Given the description of an element on the screen output the (x, y) to click on. 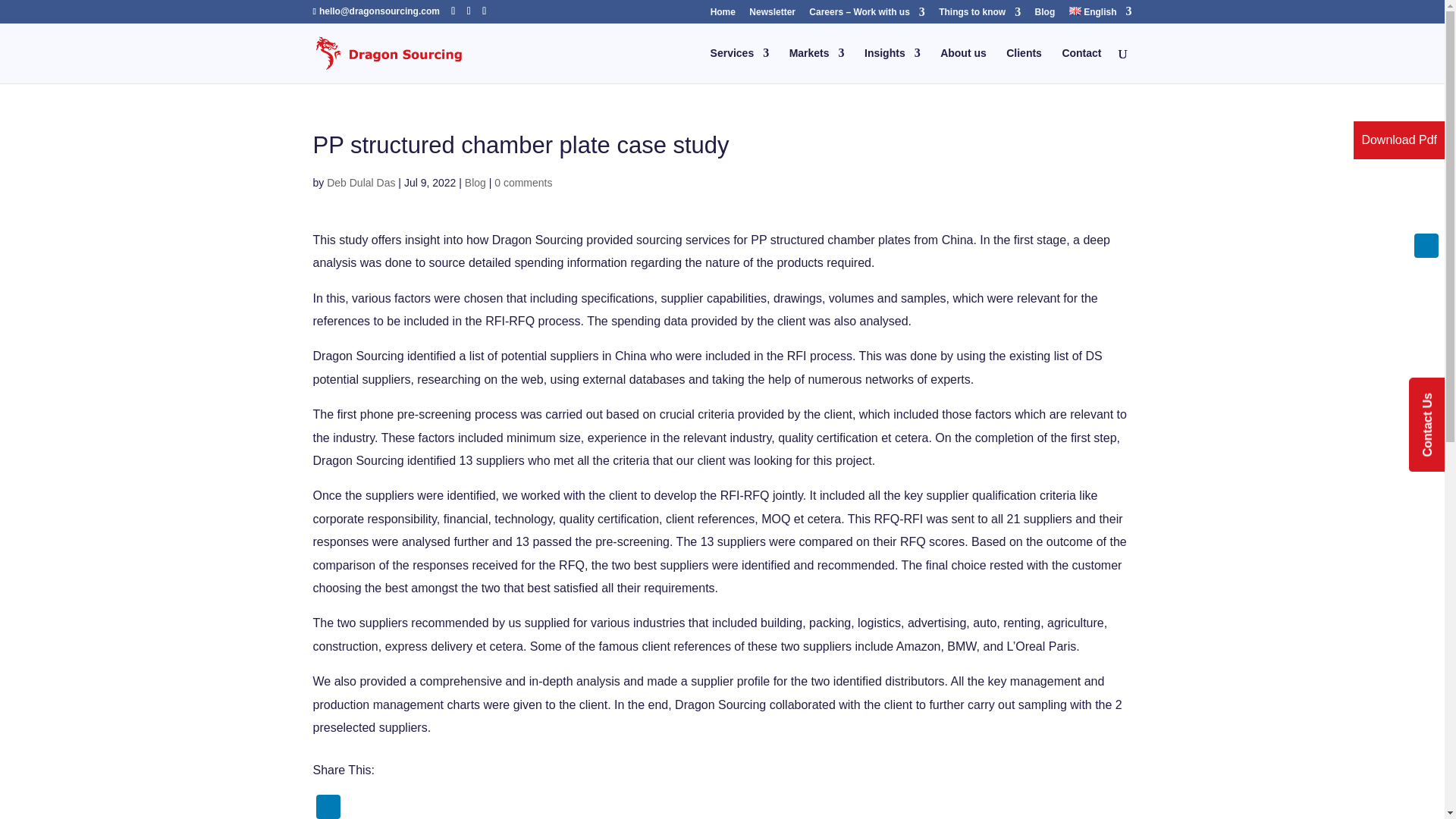
Posts by Deb Dulal Das (360, 182)
LinkedIn (327, 806)
LinkedIn (1425, 245)
Newsletter (771, 15)
Home (722, 15)
Things to know (979, 15)
